Given the description of an element on the screen output the (x, y) to click on. 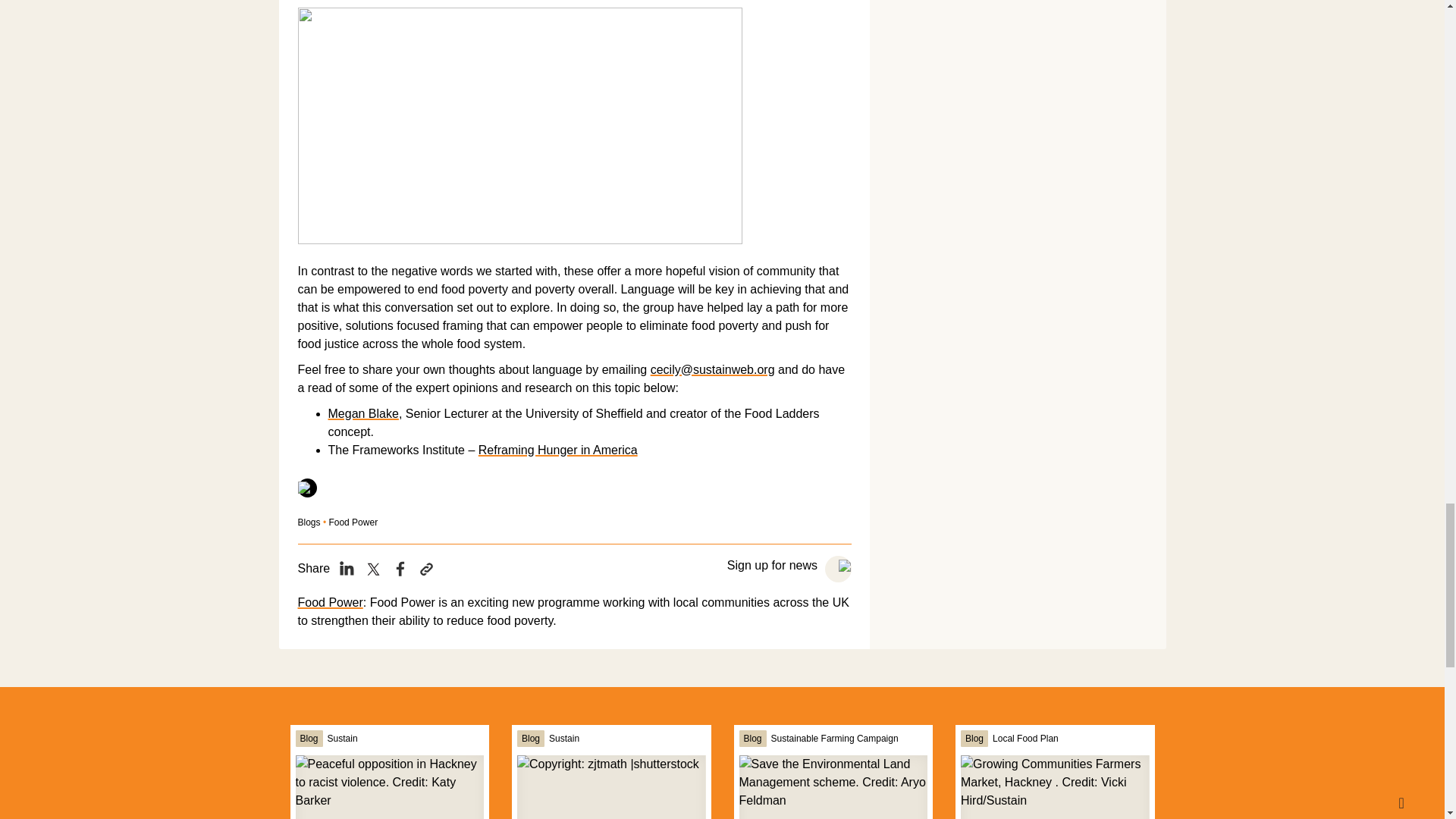
Megan Blake (362, 413)
Food Power (329, 602)
Reframing Hunger in America (558, 449)
Sign up for news (773, 564)
Food Power (353, 521)
Facebook (400, 569)
Share link (426, 569)
LinkedIn (346, 569)
